Given the description of an element on the screen output the (x, y) to click on. 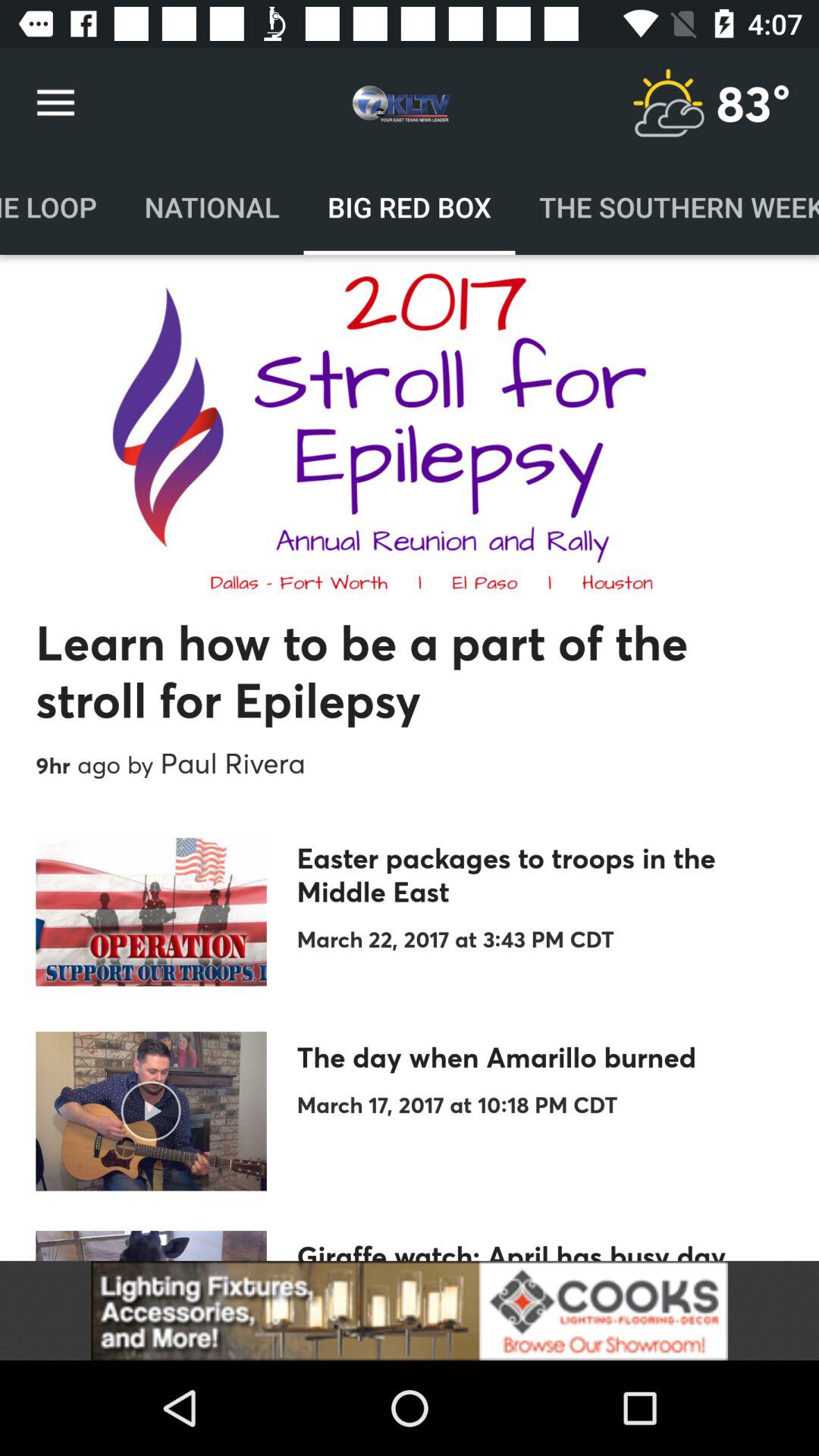
menu page (668, 103)
